Given the description of an element on the screen output the (x, y) to click on. 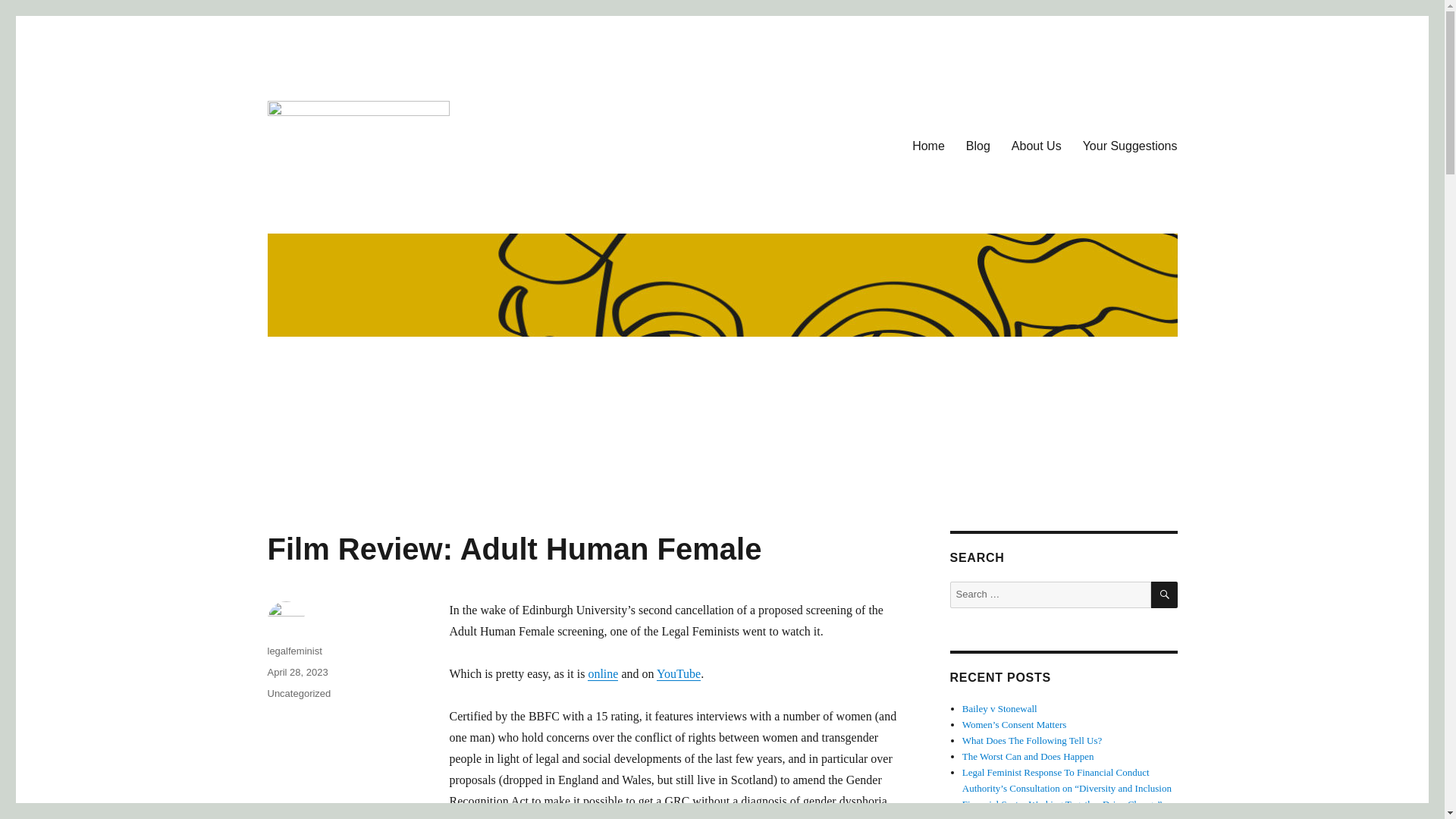
The Worst Can and Does Happen (1028, 756)
Blog (978, 146)
Home (928, 146)
Uncategorized (298, 693)
Bailey v Stonewall (999, 708)
SEARCH (1164, 594)
What Does The Following Tell Us? (1032, 740)
Your Suggestions (1129, 146)
online (602, 673)
About Us (1036, 146)
YouTube (678, 673)
April 28, 2023 (296, 672)
legalfeminist (293, 650)
